Given the description of an element on the screen output the (x, y) to click on. 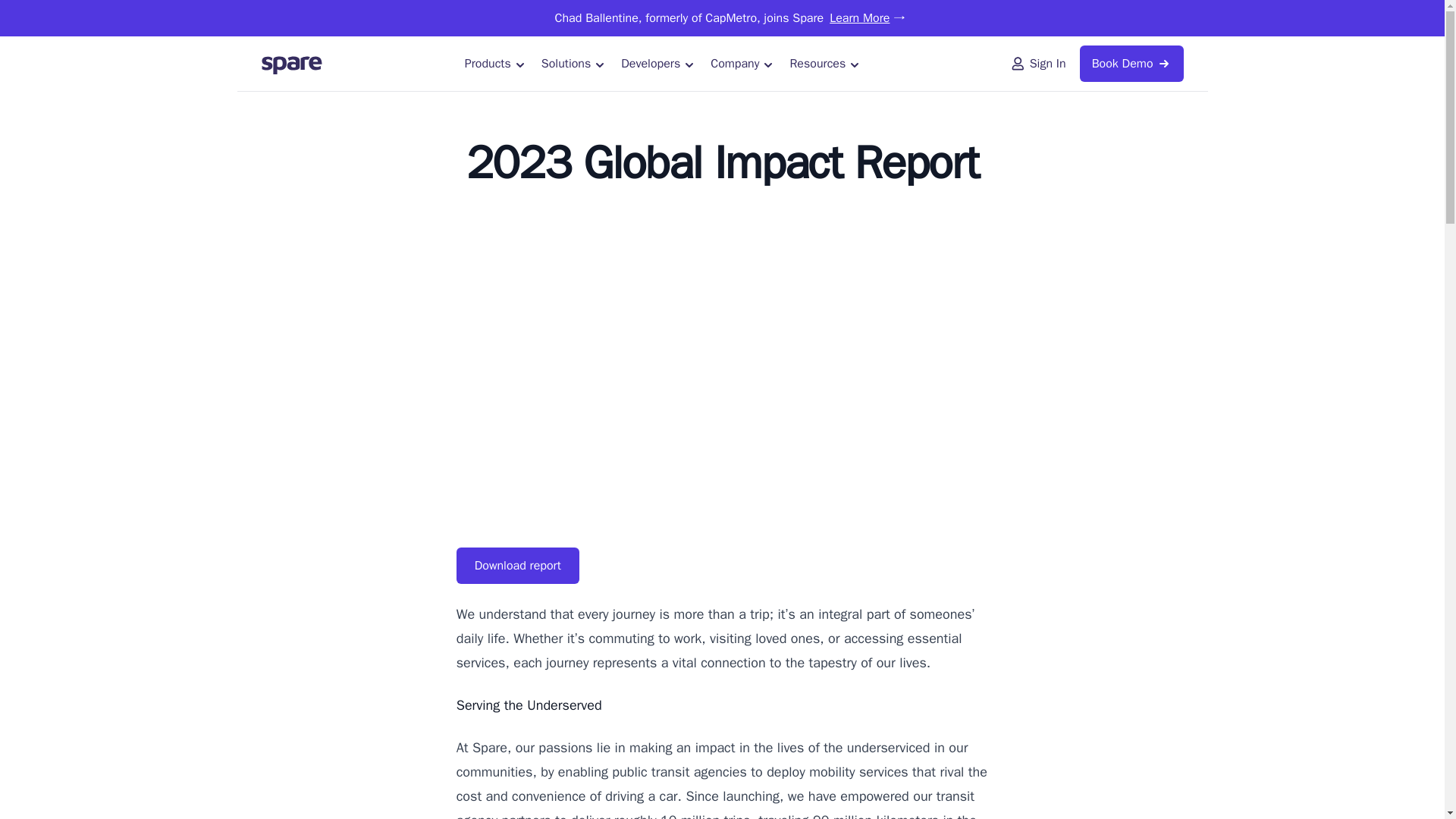
Solutions (573, 63)
Developers (657, 63)
Book Demo (1131, 63)
Products (495, 63)
Sign In (1039, 63)
Company (742, 63)
Resources (824, 63)
Go Home (290, 63)
Download report (518, 565)
